Given the description of an element on the screen output the (x, y) to click on. 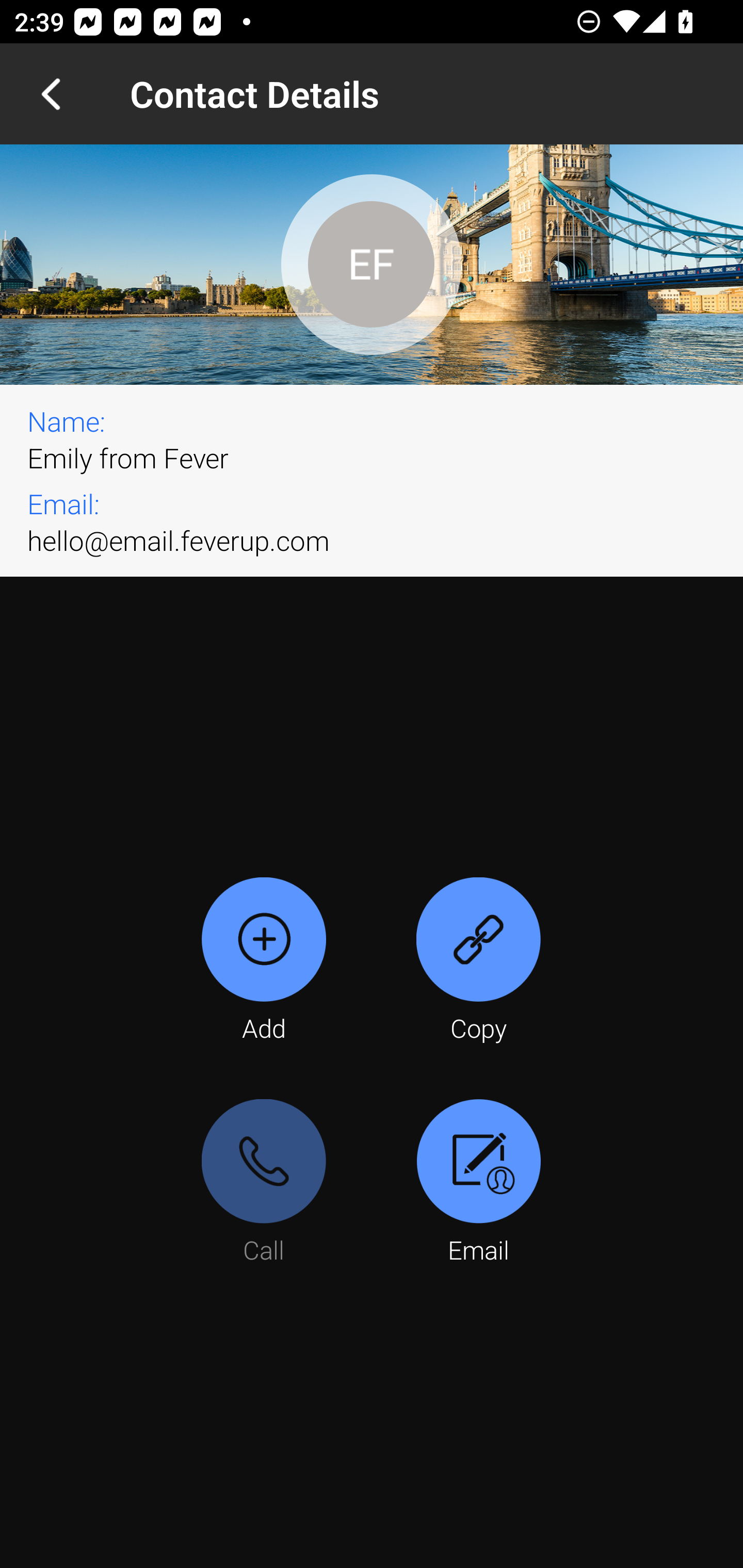
Navigate up (50, 93)
Add (264, 961)
Copy (478, 961)
Call (264, 1182)
Email (478, 1182)
